Given the description of an element on the screen output the (x, y) to click on. 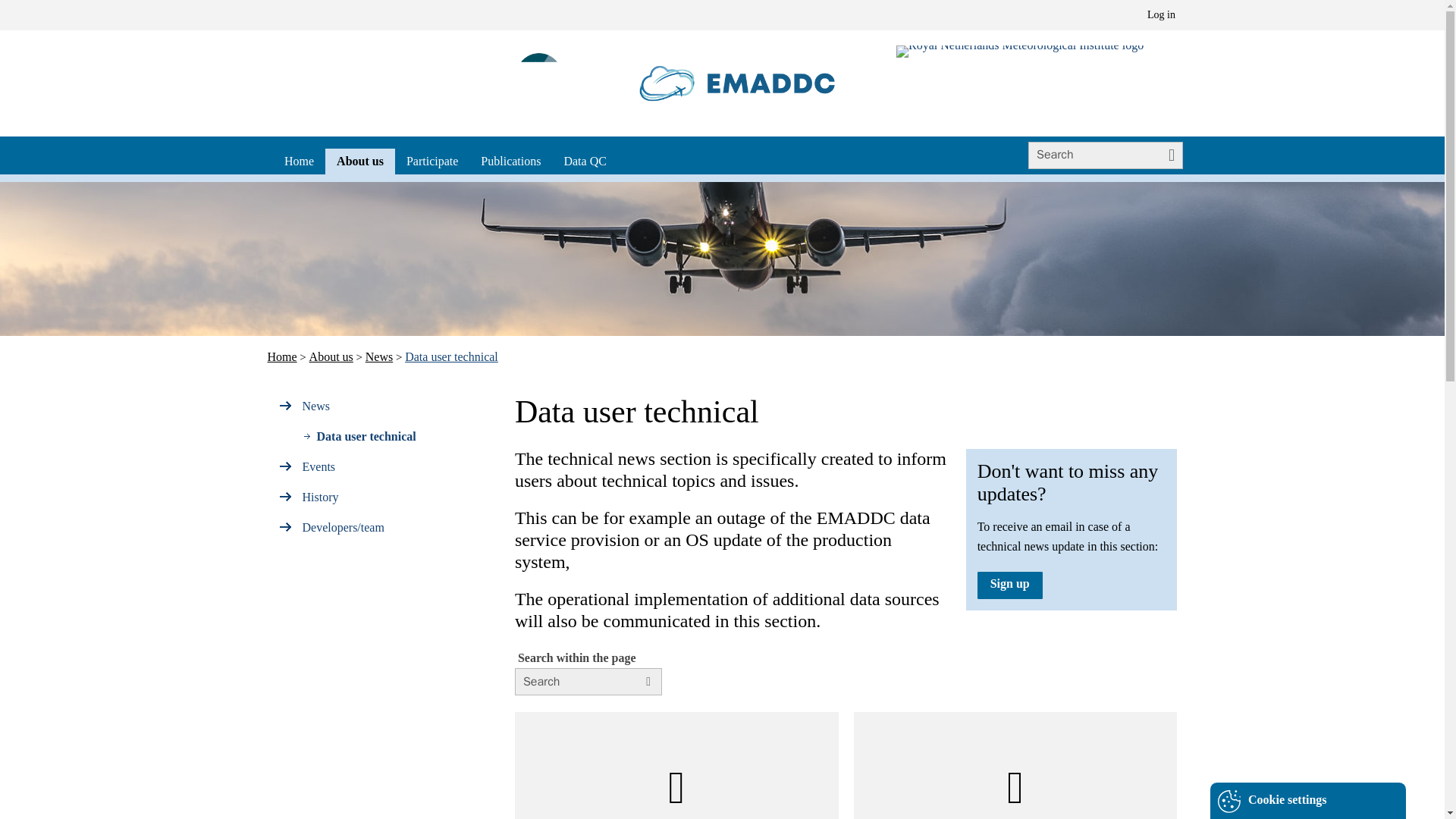
Home (298, 161)
Data QC (584, 161)
Royal Netherlands Meteorological Institute (1019, 51)
Sign up (1010, 583)
EMADDC - Home (737, 83)
About us (330, 356)
Search (651, 685)
News (379, 356)
Data user technical (450, 356)
Search within the page (588, 681)
Home (281, 356)
Publications (509, 161)
Data user technical (379, 439)
About us (359, 161)
European Meteorological Services Network (536, 83)
